Given the description of an element on the screen output the (x, y) to click on. 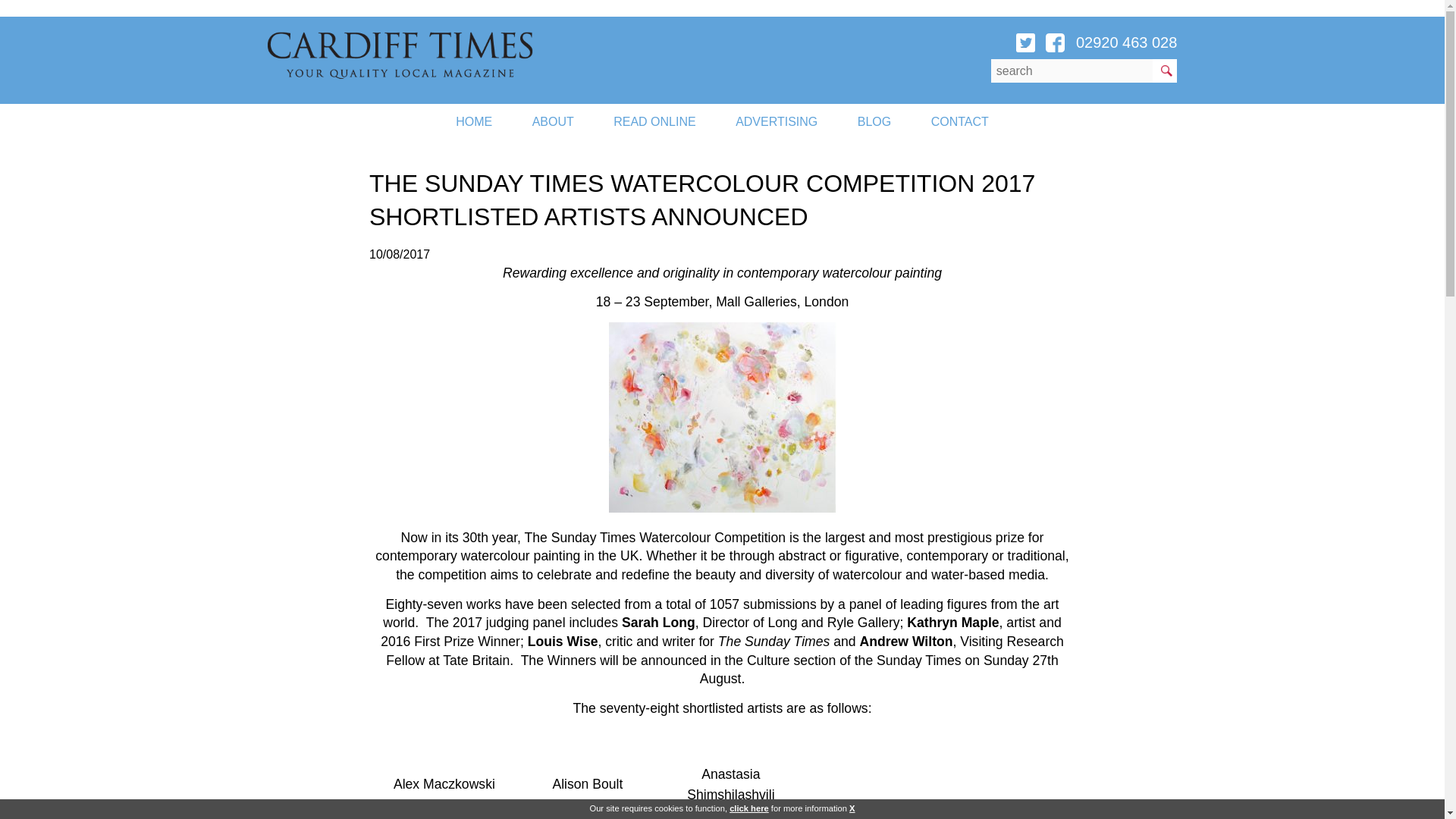
BLOG (874, 122)
ADVERTISING (776, 122)
02920 463 028 (1125, 42)
ABOUT (552, 122)
click here (748, 808)
HOME (474, 122)
CONTACT (959, 122)
READ ONLINE (654, 122)
